Given the description of an element on the screen output the (x, y) to click on. 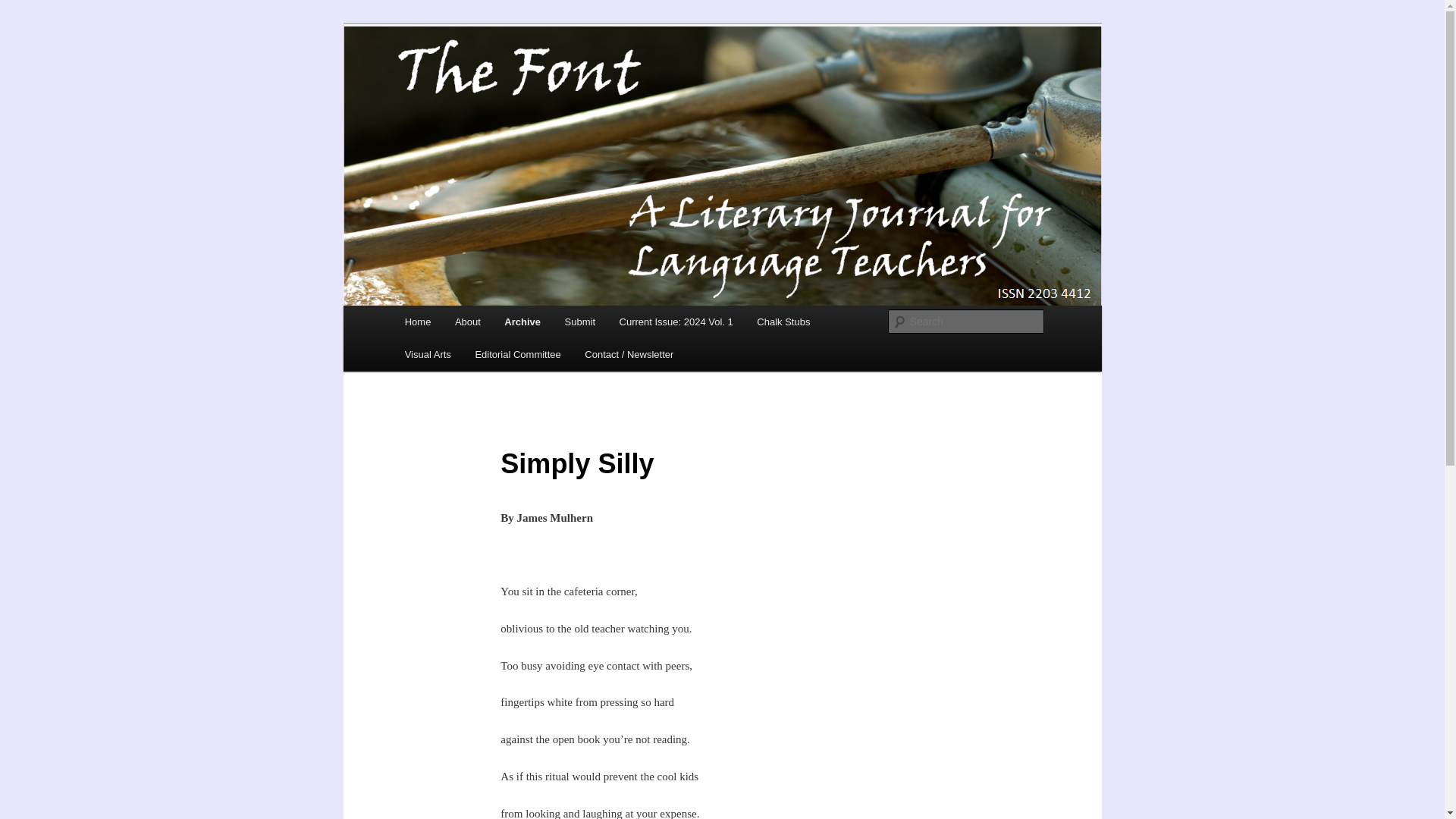
Archive (523, 321)
Home (417, 321)
About (467, 321)
The Font (448, 78)
Search (24, 8)
